Given the description of an element on the screen output the (x, y) to click on. 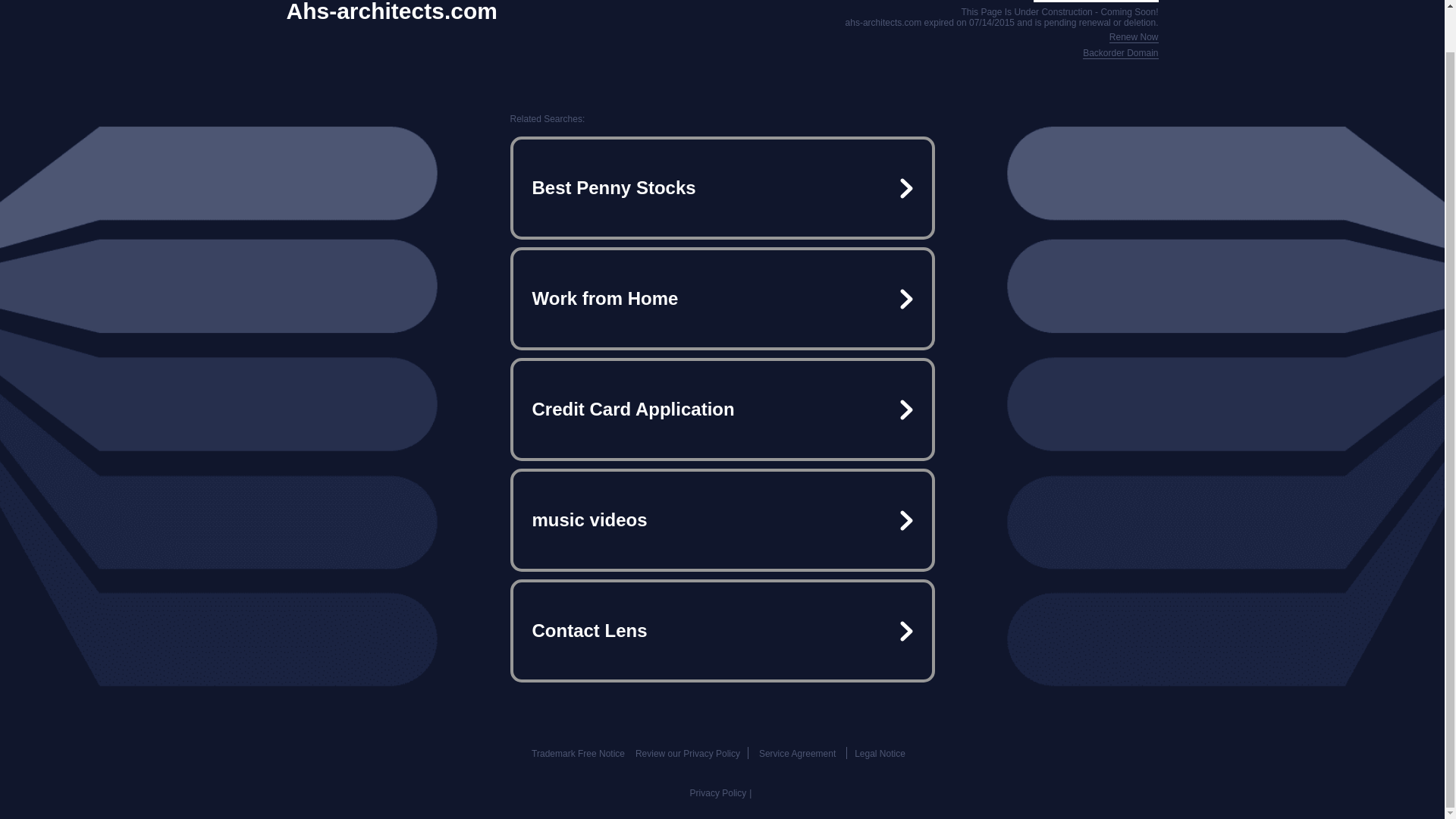
Work from Home (721, 298)
Contact Lens (721, 630)
Backorder Domain (1120, 52)
Best Penny Stocks (721, 187)
Best Penny Stocks (721, 187)
Credit Card Application (721, 409)
Service Agreement (796, 753)
Credit Card Application (721, 409)
Trademark Free Notice (577, 753)
Review our Privacy Policy (686, 753)
